Given the description of an element on the screen output the (x, y) to click on. 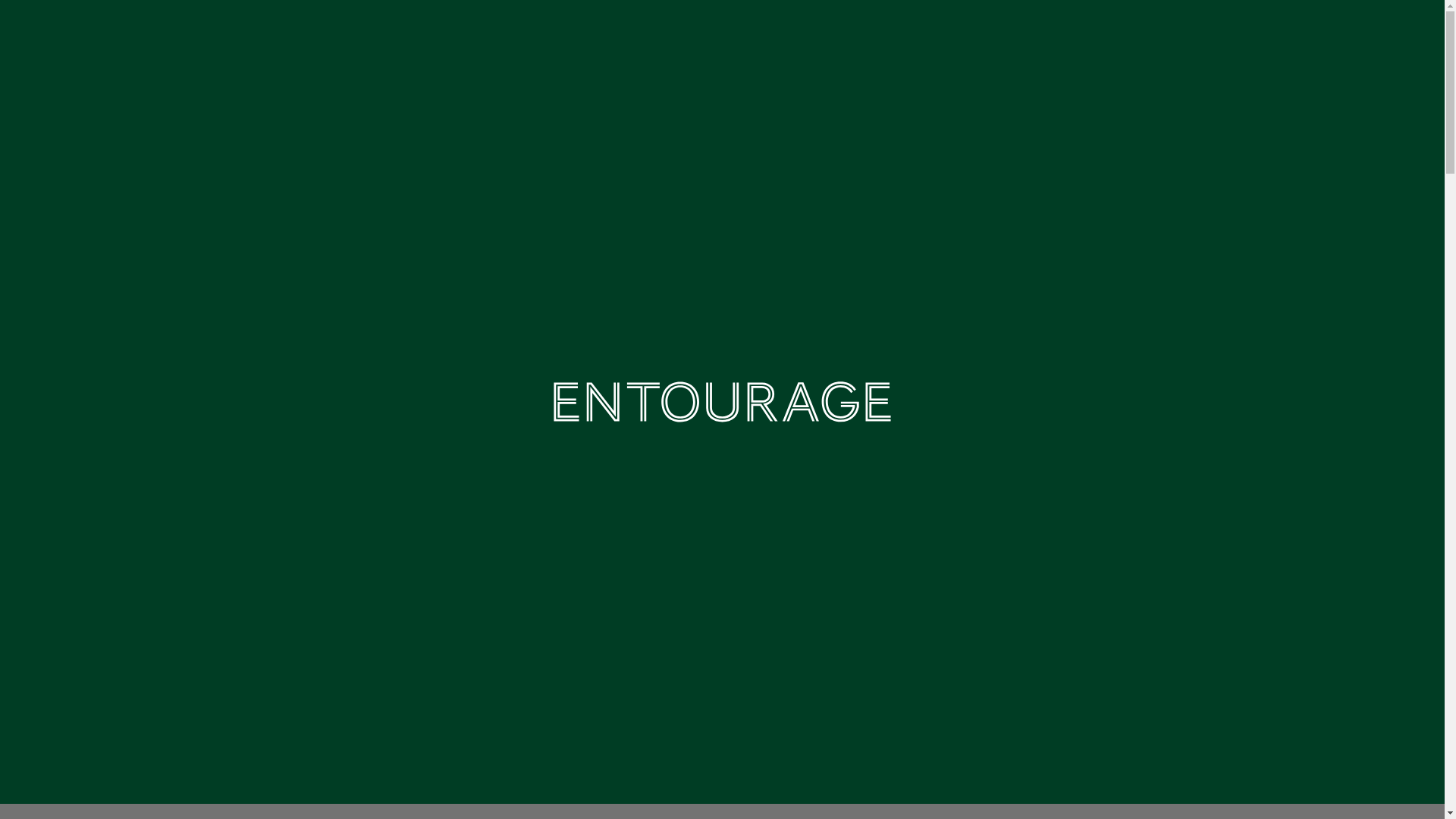
Lawyer Home Loans Element type: hover (142, 41)
Lawyer Home Loans Element type: hover (722, 401)
Resources Element type: text (882, 40)
03 9421 1651 Element type: text (1318, 40)
About Us Element type: text (765, 40)
Blog Element type: text (1087, 37)
Locations Element type: text (1000, 40)
Services Element type: text (654, 40)
Entourage Finance Deniliquin Element type: hover (722, 227)
Contact Element type: text (1154, 37)
